Given the description of an element on the screen output the (x, y) to click on. 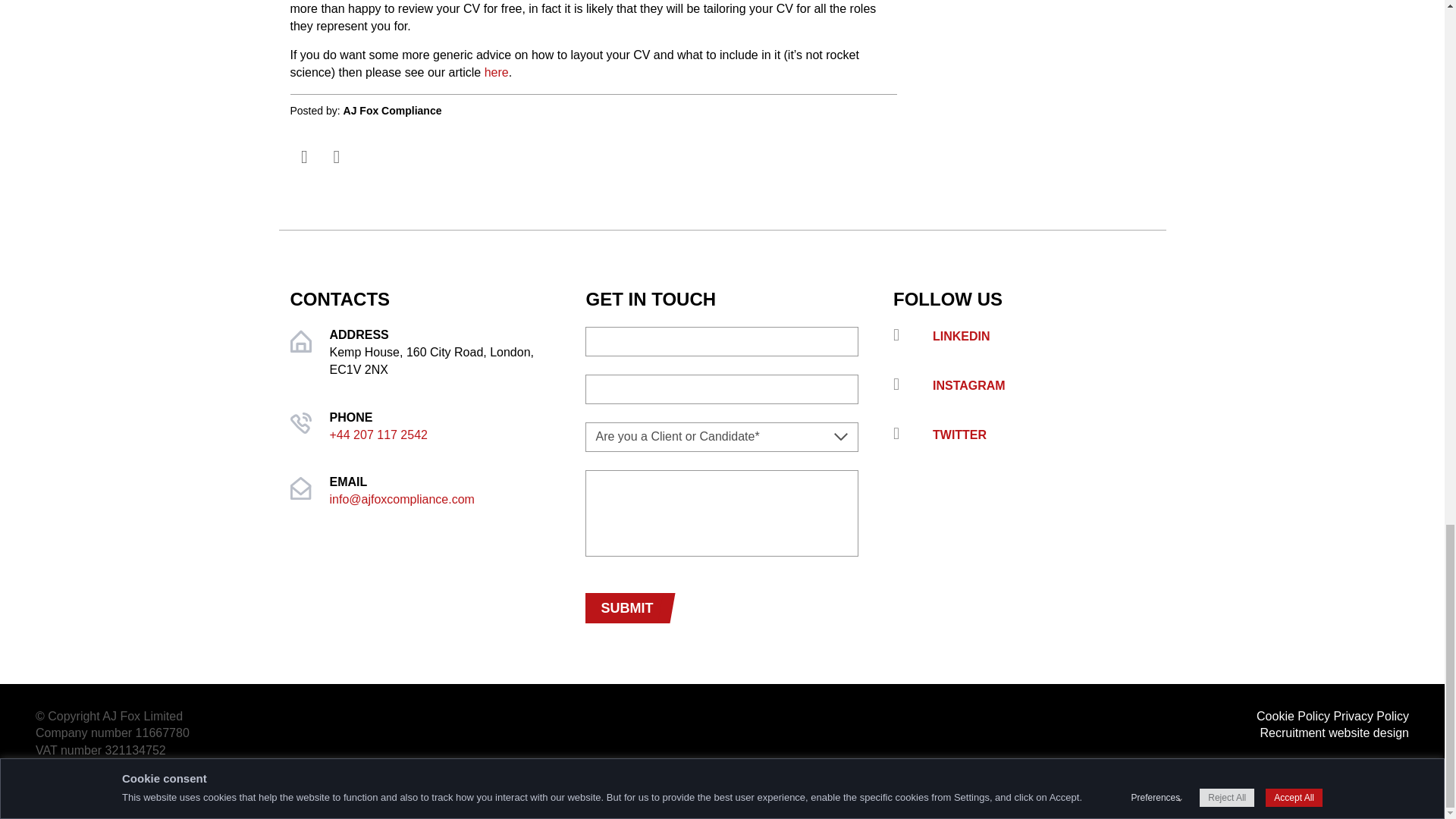
Privacy Policy (1371, 716)
TWITTER (1023, 434)
Cookie Policy (1293, 716)
LINKEDIN (1023, 335)
INSTAGRAM (1023, 384)
here (496, 72)
Recruitment website design (1334, 732)
Twitter (1023, 434)
Instagram (1023, 384)
LinkedIn (1023, 335)
